Given the description of an element on the screen output the (x, y) to click on. 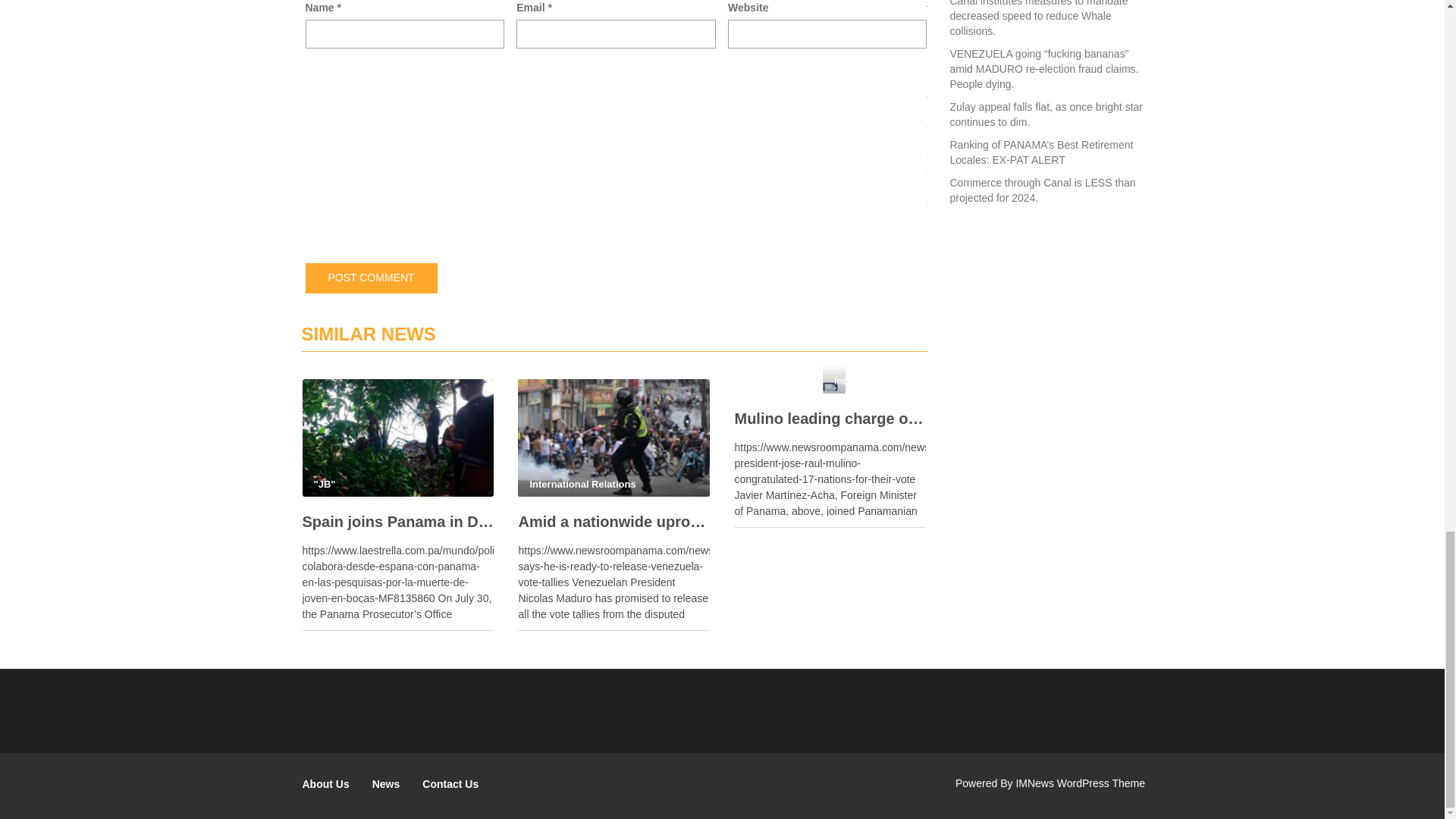
Post Comment (370, 277)
About Us (326, 783)
Commerce through Canal is LESS than projected for 2024. (1042, 189)
Post Comment (370, 277)
